Given the description of an element on the screen output the (x, y) to click on. 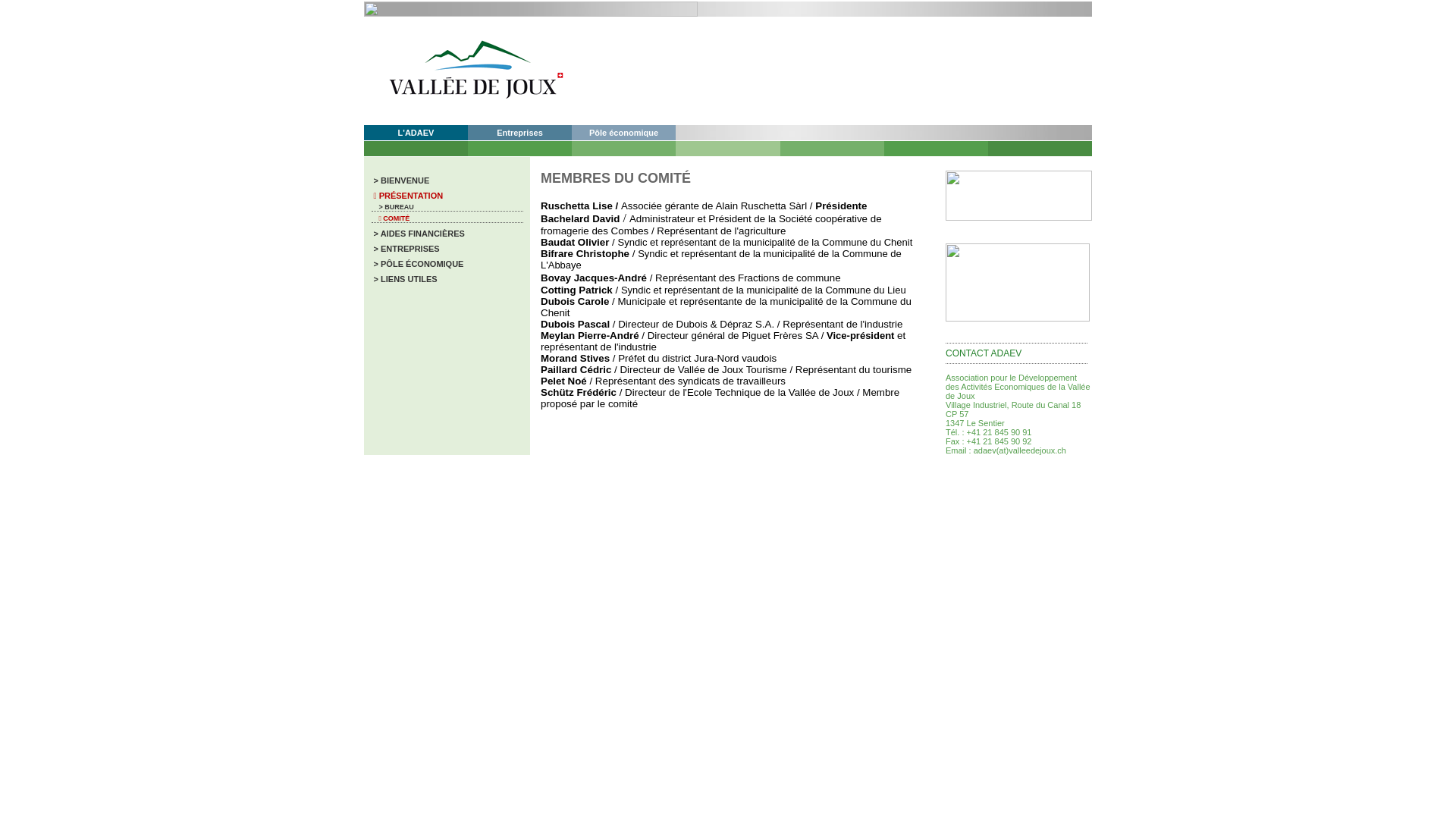
 > LIENS UTILES Element type: text (404, 278)
    > BUREAU Element type: text (392, 206)
 > BIENVENUE Element type: text (400, 180)
Entreprises Element type: text (519, 132)
L'ADAEV Element type: text (416, 132)
 > ENTREPRISES Element type: text (405, 248)
